Given the description of an element on the screen output the (x, y) to click on. 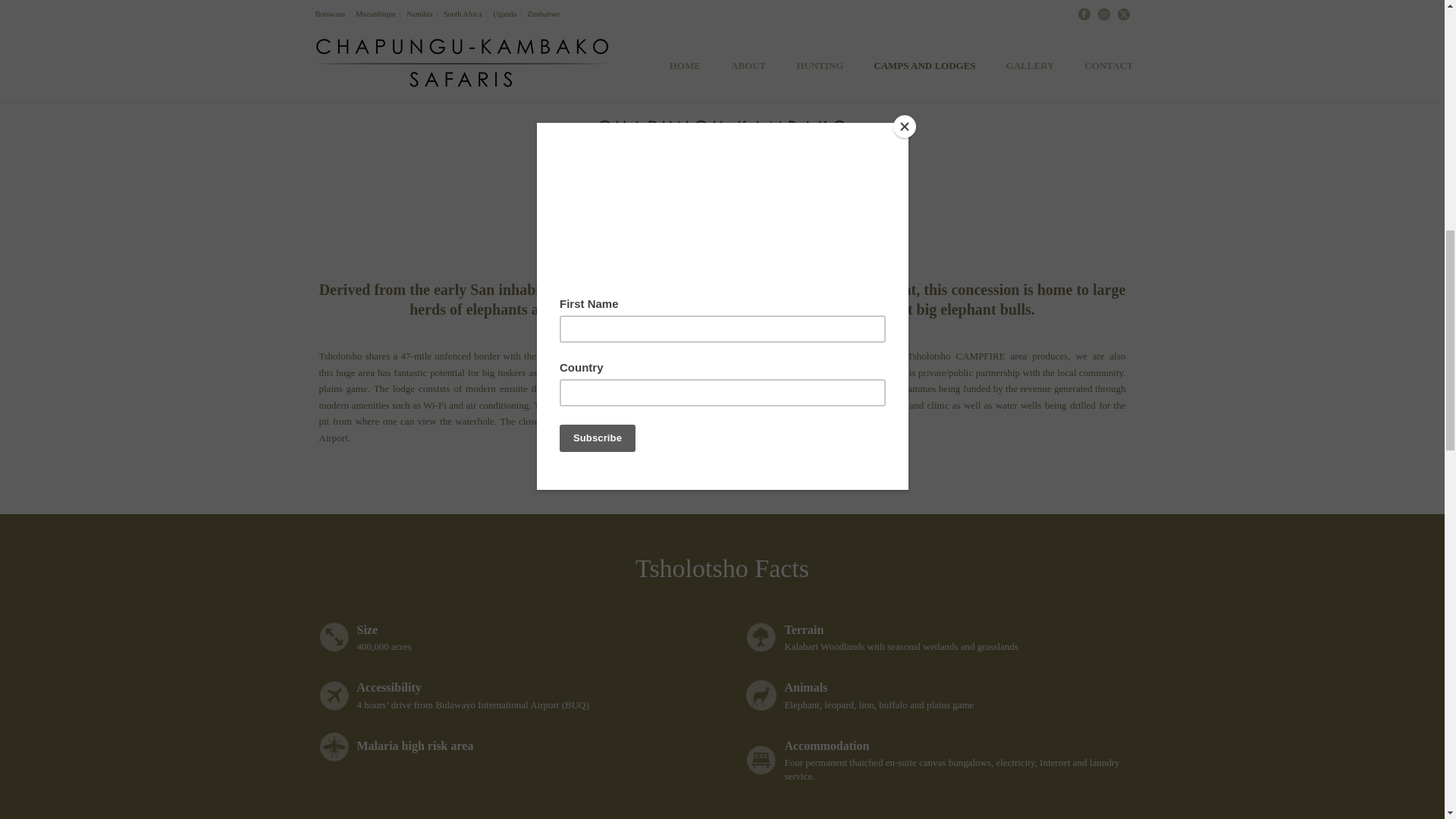
cks-zim (721, 138)
i3b2802-1 (240, 29)
i3b2807-1 (721, 29)
